Given the description of an element on the screen output the (x, y) to click on. 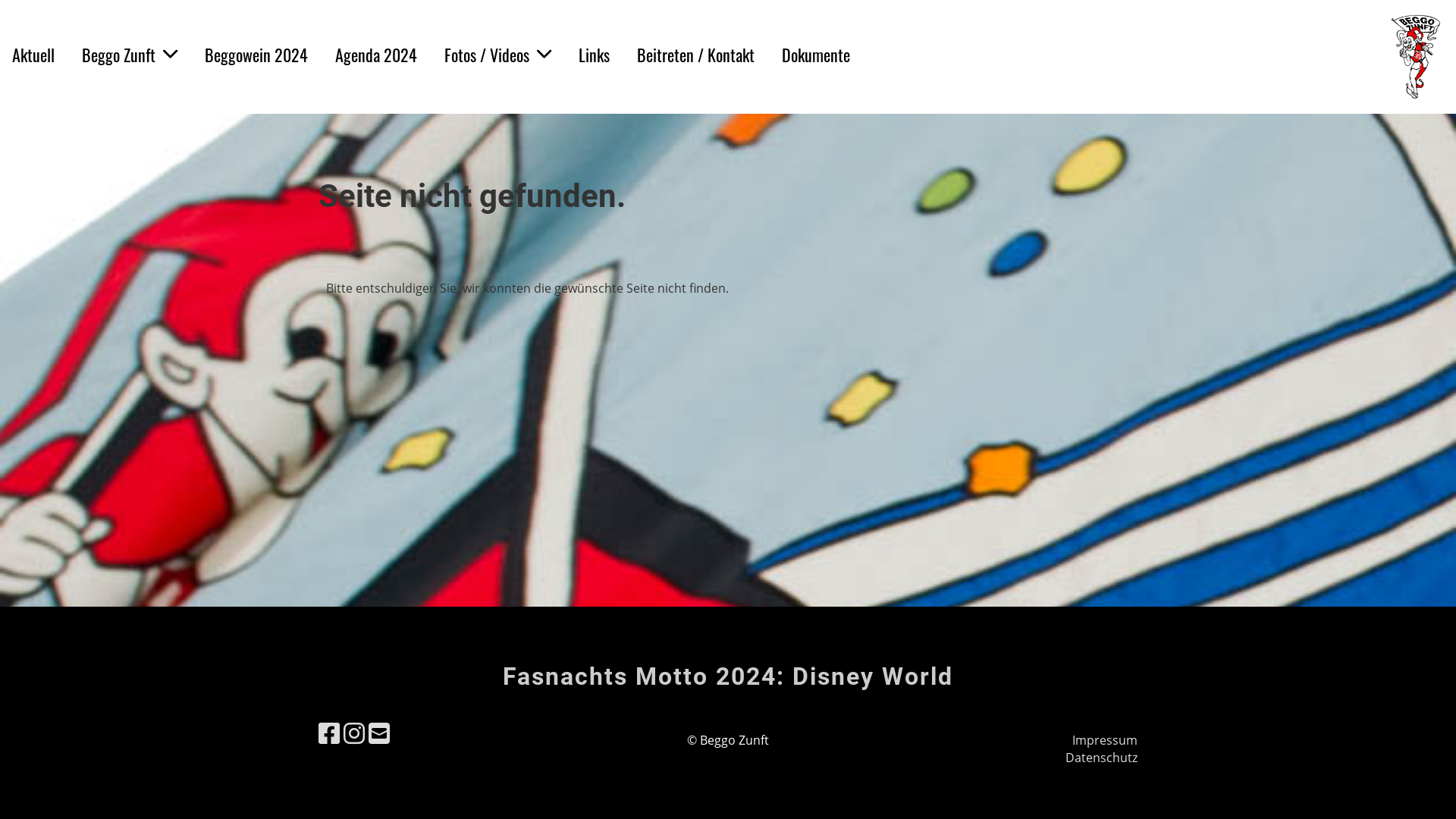
Dokumente Element type: text (815, 54)
Beitreten / Kontakt Element type: text (695, 54)
Datenschutz Element type: text (1101, 757)
Login Element type: text (1310, 55)
Aktuell Element type: text (33, 54)
Beggo Zunft Element type: text (129, 54)
Links Element type: text (593, 54)
Impressum Element type: text (1104, 739)
Beggowein 2024 Element type: text (256, 54)
Agenda 2024 Element type: text (376, 54)
Fotos / Videos Element type: text (497, 54)
